Given the description of an element on the screen output the (x, y) to click on. 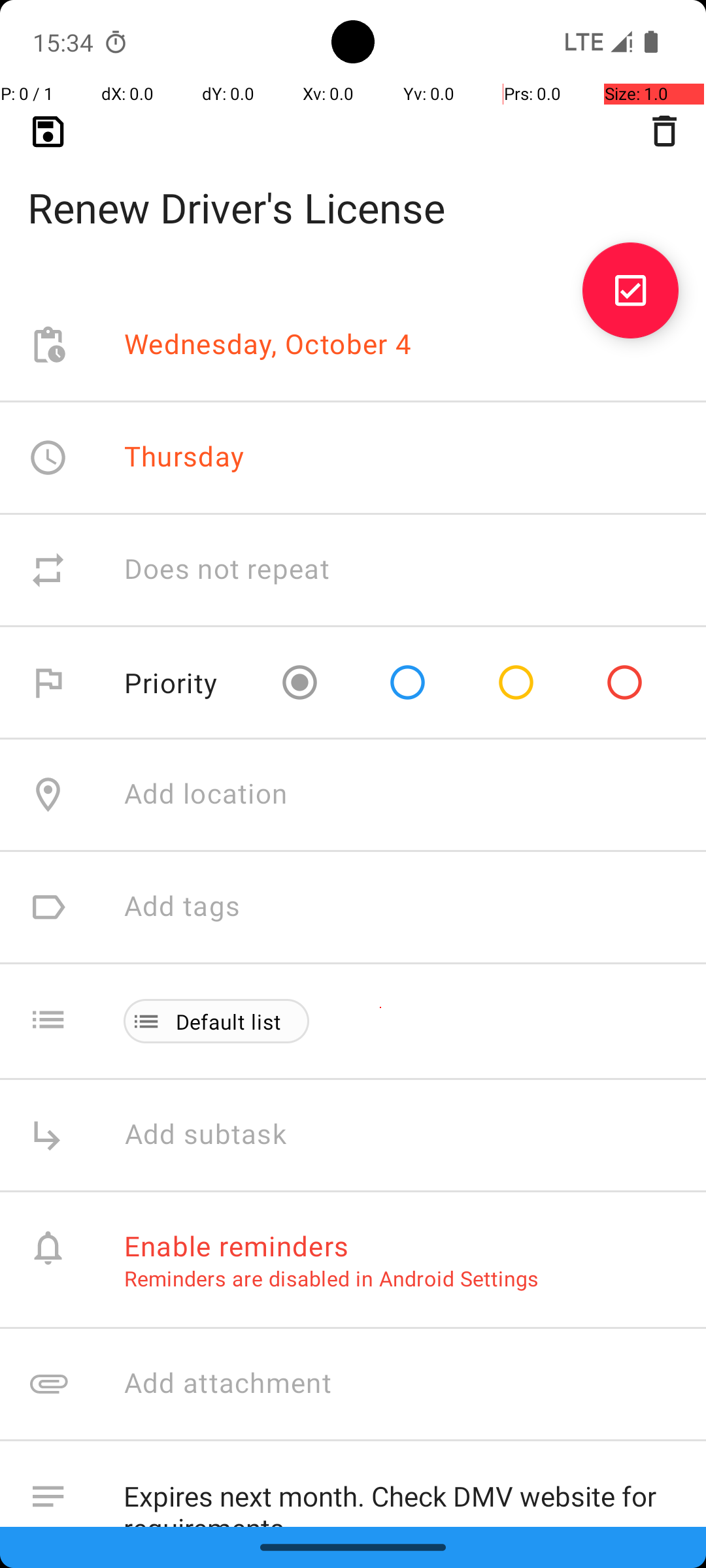
Expires next month. Check DMV website for requirements. Element type: android.widget.EditText (400, 1493)
Wednesday, October 4 Element type: android.widget.TextView (267, 344)
